Given the description of an element on the screen output the (x, y) to click on. 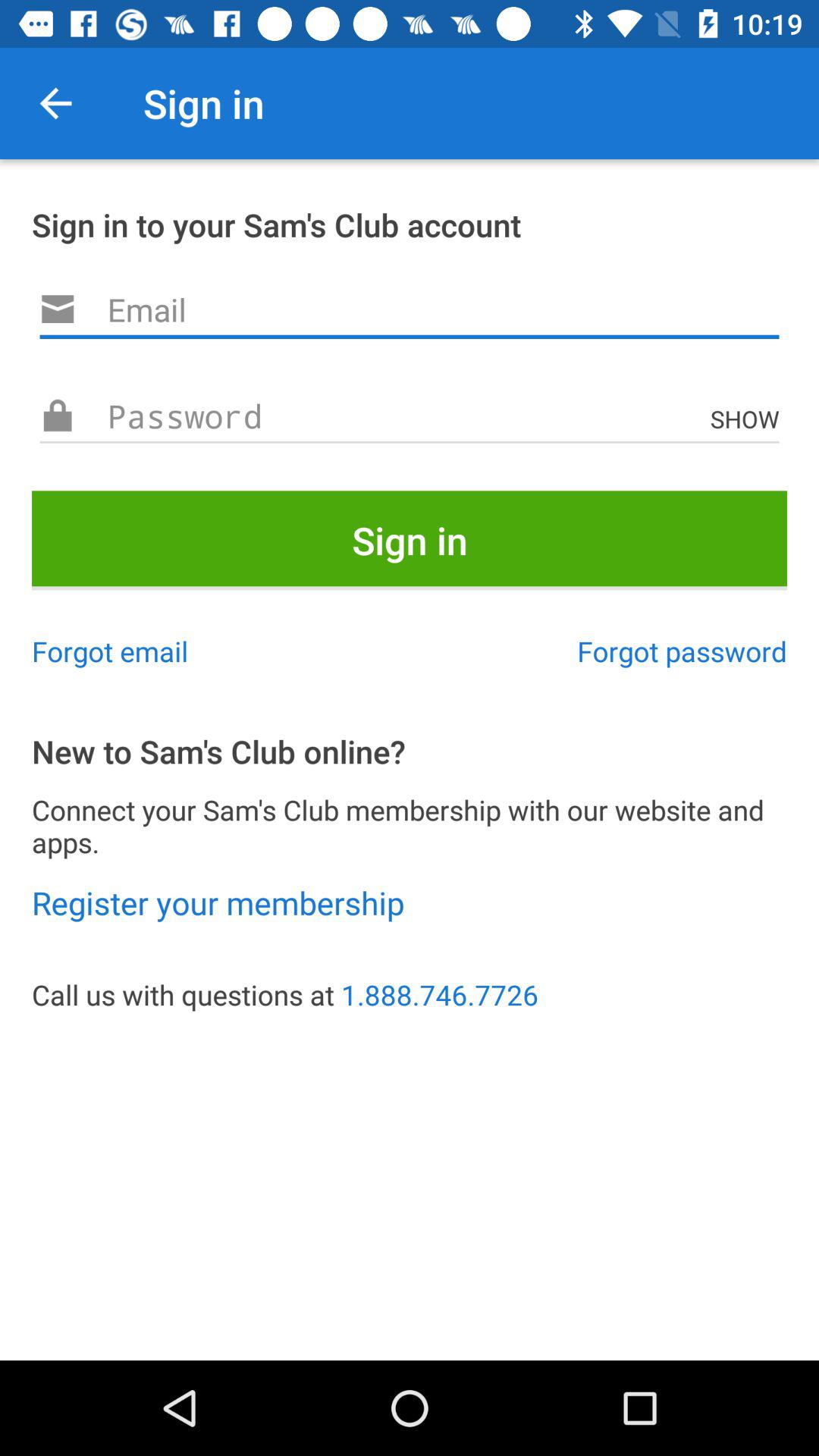
turn on item on the left (109, 650)
